Given the description of an element on the screen output the (x, y) to click on. 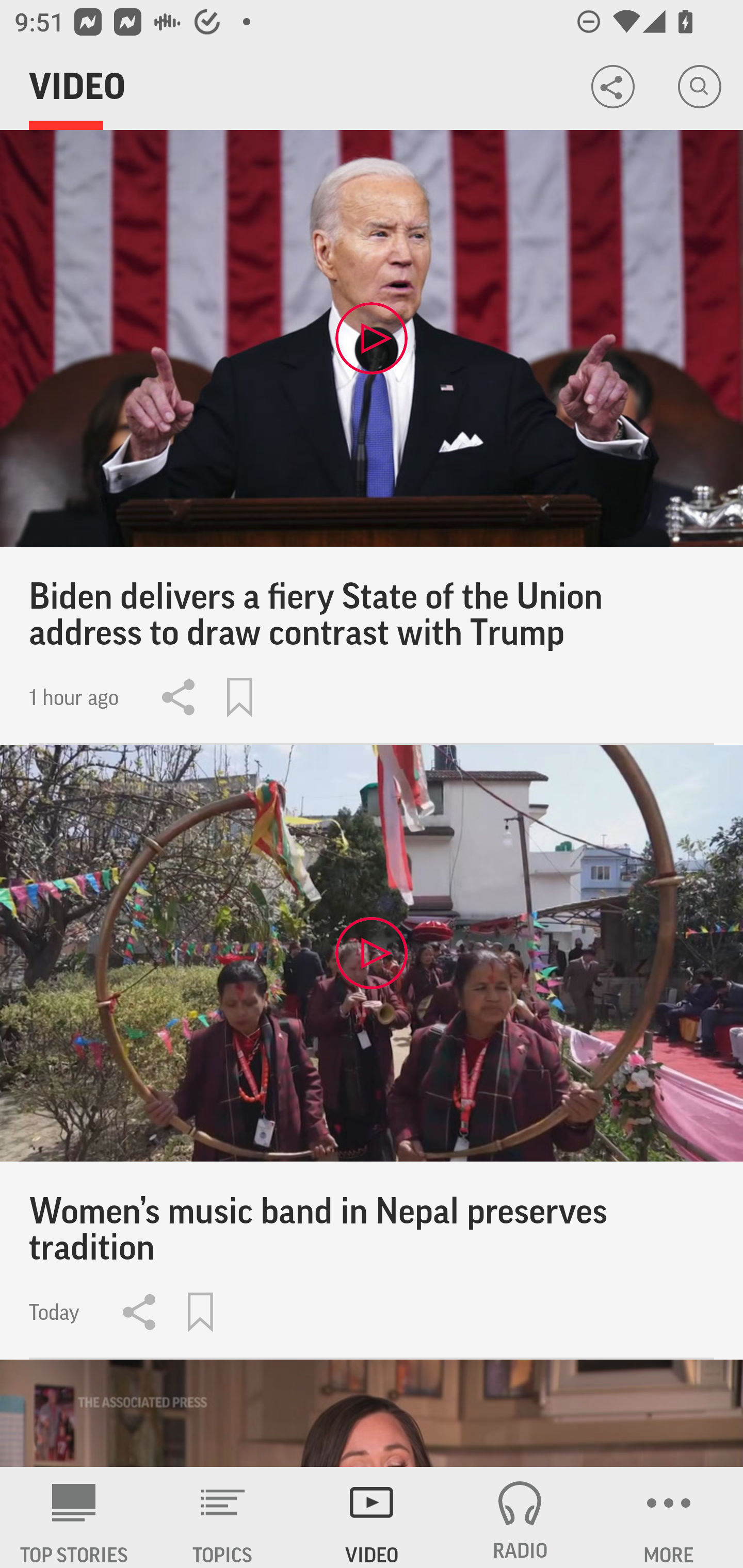
AP News TOP STORIES (74, 1517)
TOPICS (222, 1517)
VIDEO (371, 1517)
RADIO (519, 1517)
MORE (668, 1517)
